Given the description of an element on the screen output the (x, y) to click on. 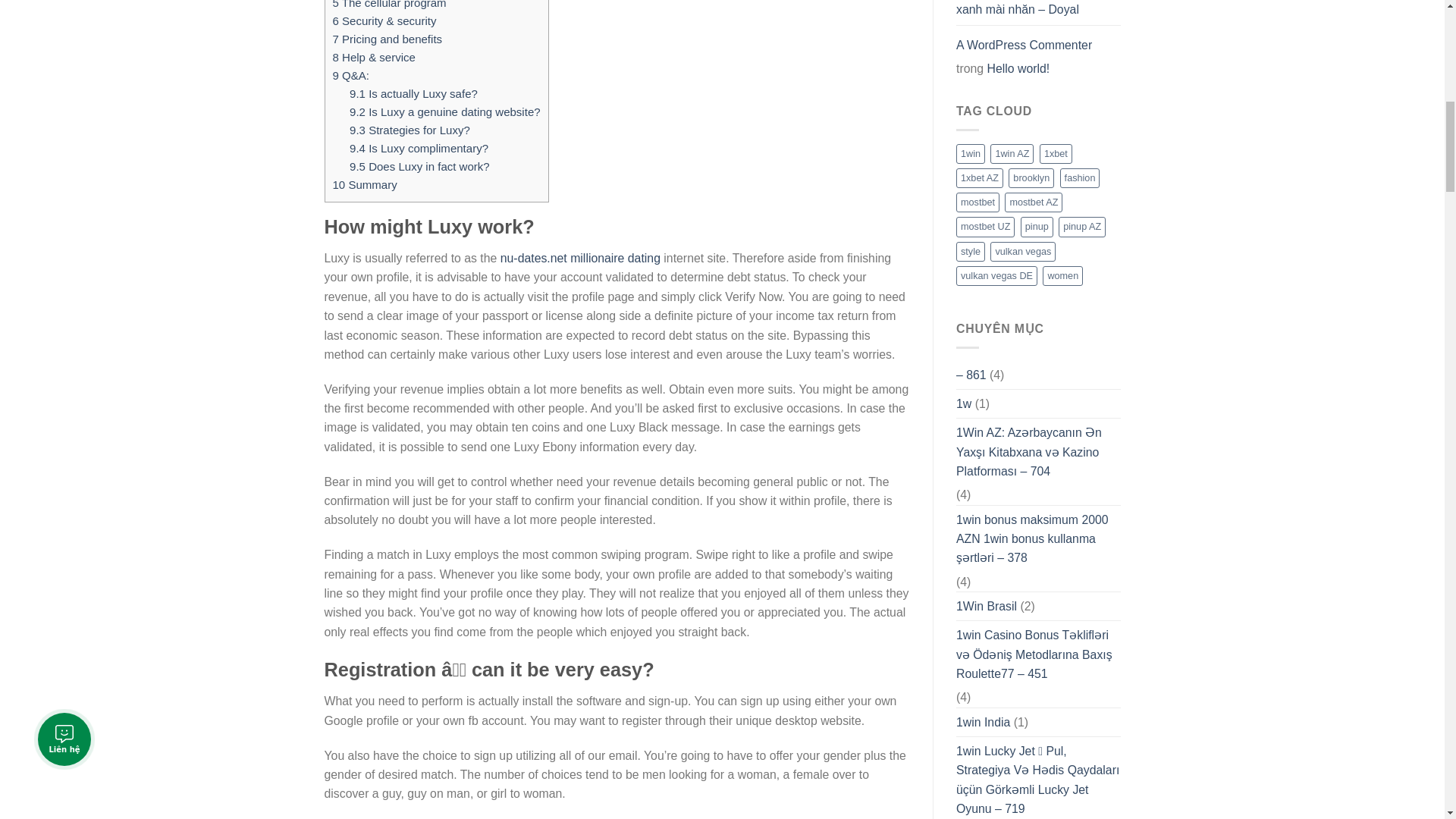
5 The cellular program (388, 4)
7 Pricing and benefits (386, 38)
9.2 Is Luxy a genuine dating website? (444, 111)
9.1 Is actually Luxy safe? (413, 92)
